Given the description of an element on the screen output the (x, y) to click on. 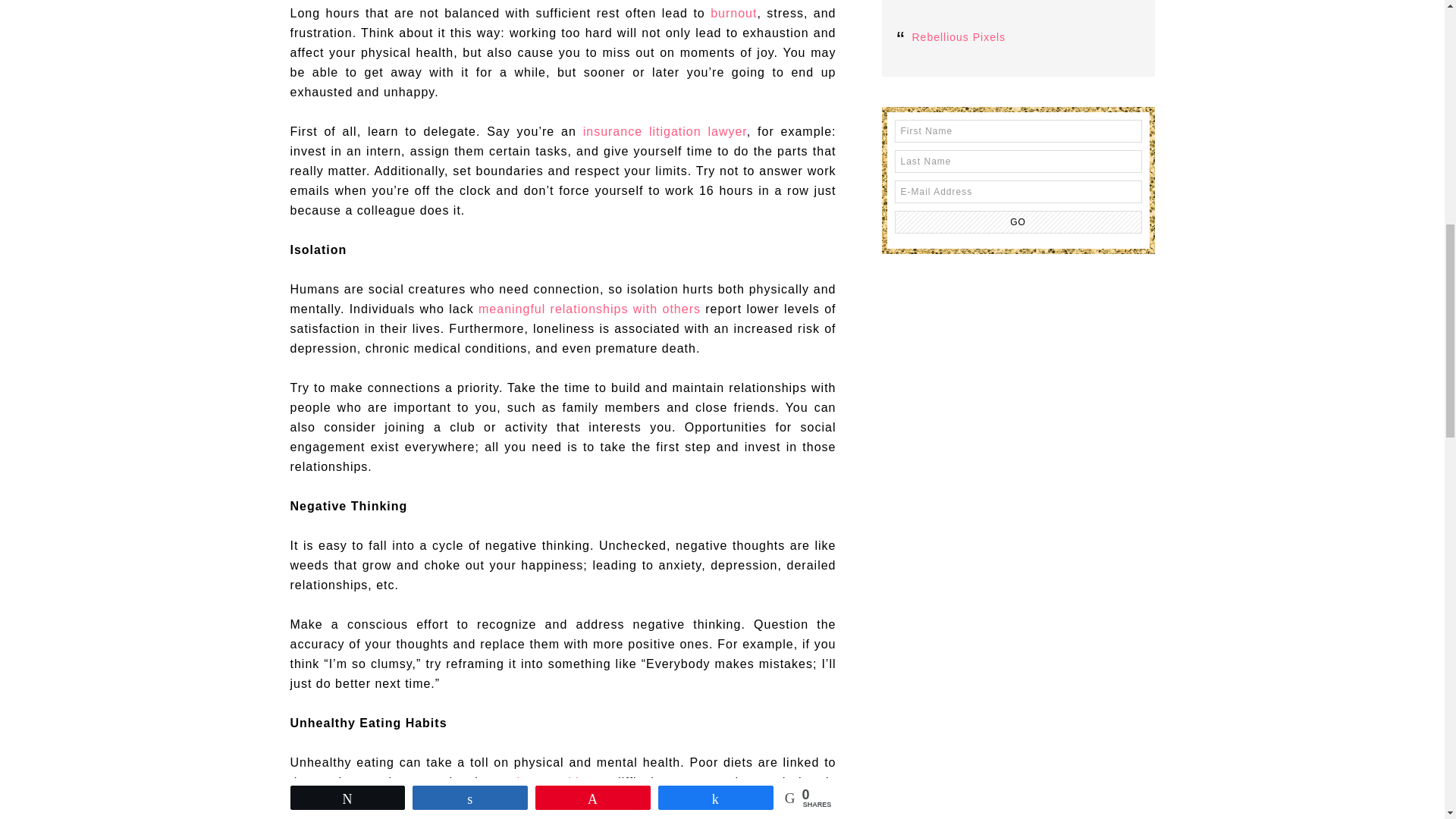
insurance litigation lawyer (664, 131)
burnout (733, 12)
sleep problems (556, 781)
Go (1018, 221)
Go (1018, 221)
meaningful relationships with others (589, 308)
Rebellious Pixels (958, 37)
